Given the description of an element on the screen output the (x, y) to click on. 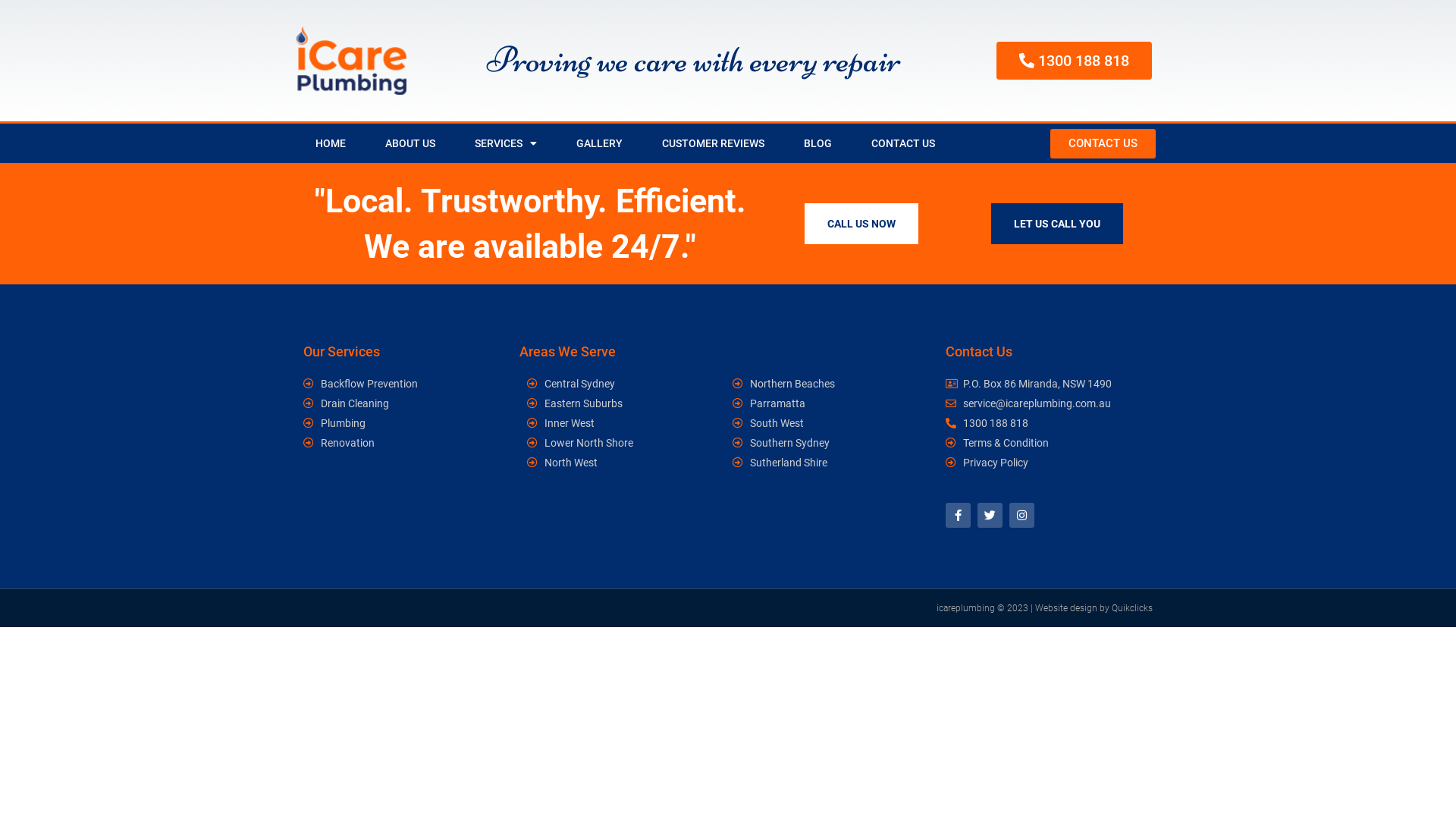
Sutherland Shire Element type: text (827, 462)
Privacy Policy Element type: text (1045, 462)
CALL US NOW Element type: text (861, 223)
HOME Element type: text (330, 143)
Central Sydney Element type: text (622, 383)
Southern Sydney Element type: text (827, 442)
Terms & Condition Element type: text (1045, 442)
Drain Cleaning Element type: text (373, 403)
Inner West Element type: text (622, 423)
Eastern Suburbs Element type: text (622, 403)
Plumbing Element type: text (373, 423)
CUSTOMER REVIEWS Element type: text (713, 143)
LET US CALL YOU Element type: text (1057, 223)
North West Element type: text (622, 462)
Backflow Prevention Element type: text (373, 383)
CONTACT US Element type: text (902, 143)
1300 188 818 Element type: text (1045, 423)
BLOG Element type: text (817, 143)
service@icareplumbing.com.au Element type: text (1045, 403)
South West Element type: text (827, 423)
SERVICES Element type: text (505, 143)
Renovation Element type: text (373, 442)
Parramatta Element type: text (827, 403)
Northern Beaches Element type: text (827, 383)
ABOUT US Element type: text (410, 143)
Lower North Shore Element type: text (622, 442)
1300 188 818 Element type: text (1073, 60)
CONTACT US Element type: text (1102, 143)
GALLERY Element type: text (599, 143)
